Given the description of an element on the screen output the (x, y) to click on. 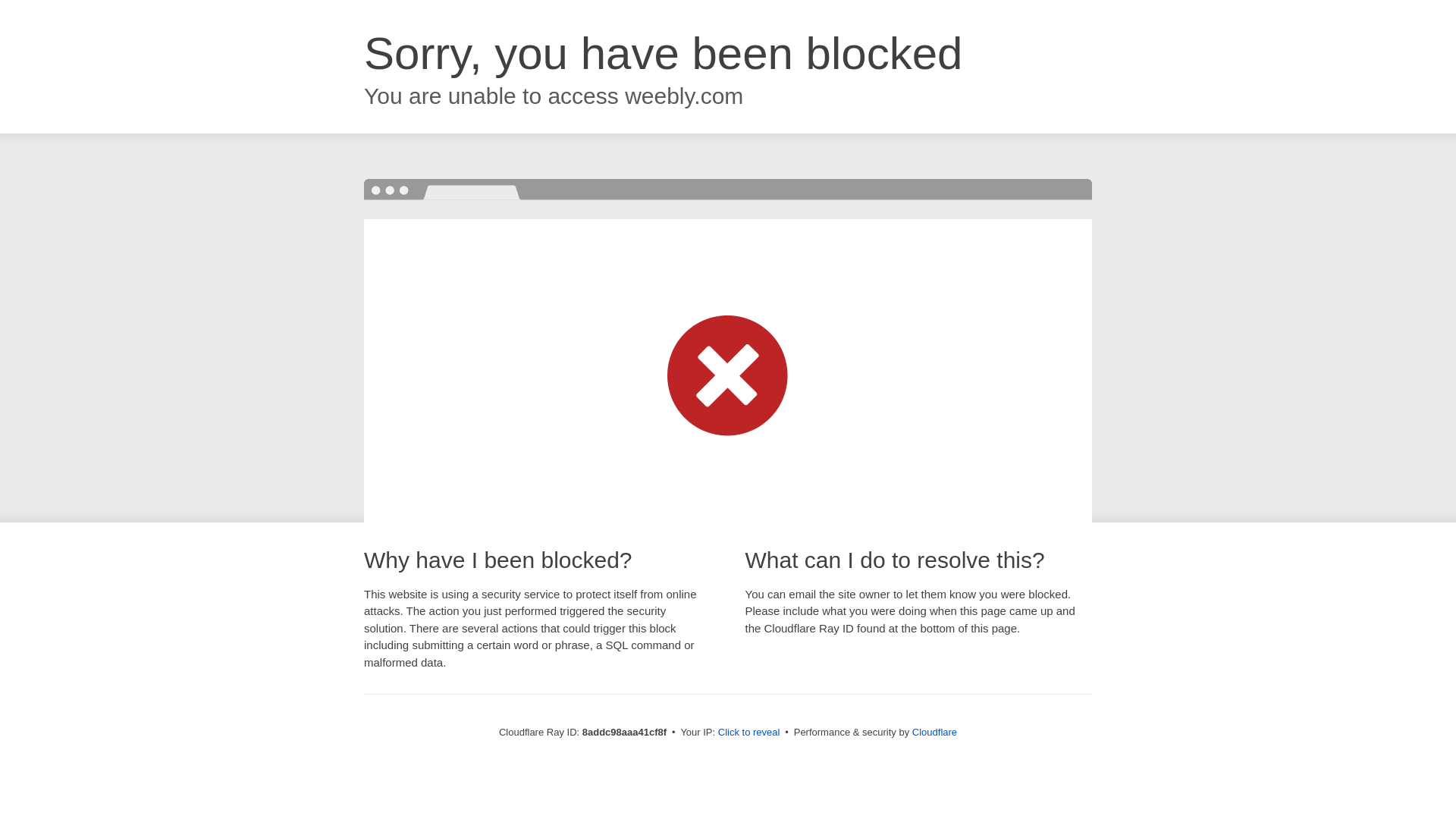
Click to reveal (748, 732)
Cloudflare (934, 731)
